Given the description of an element on the screen output the (x, y) to click on. 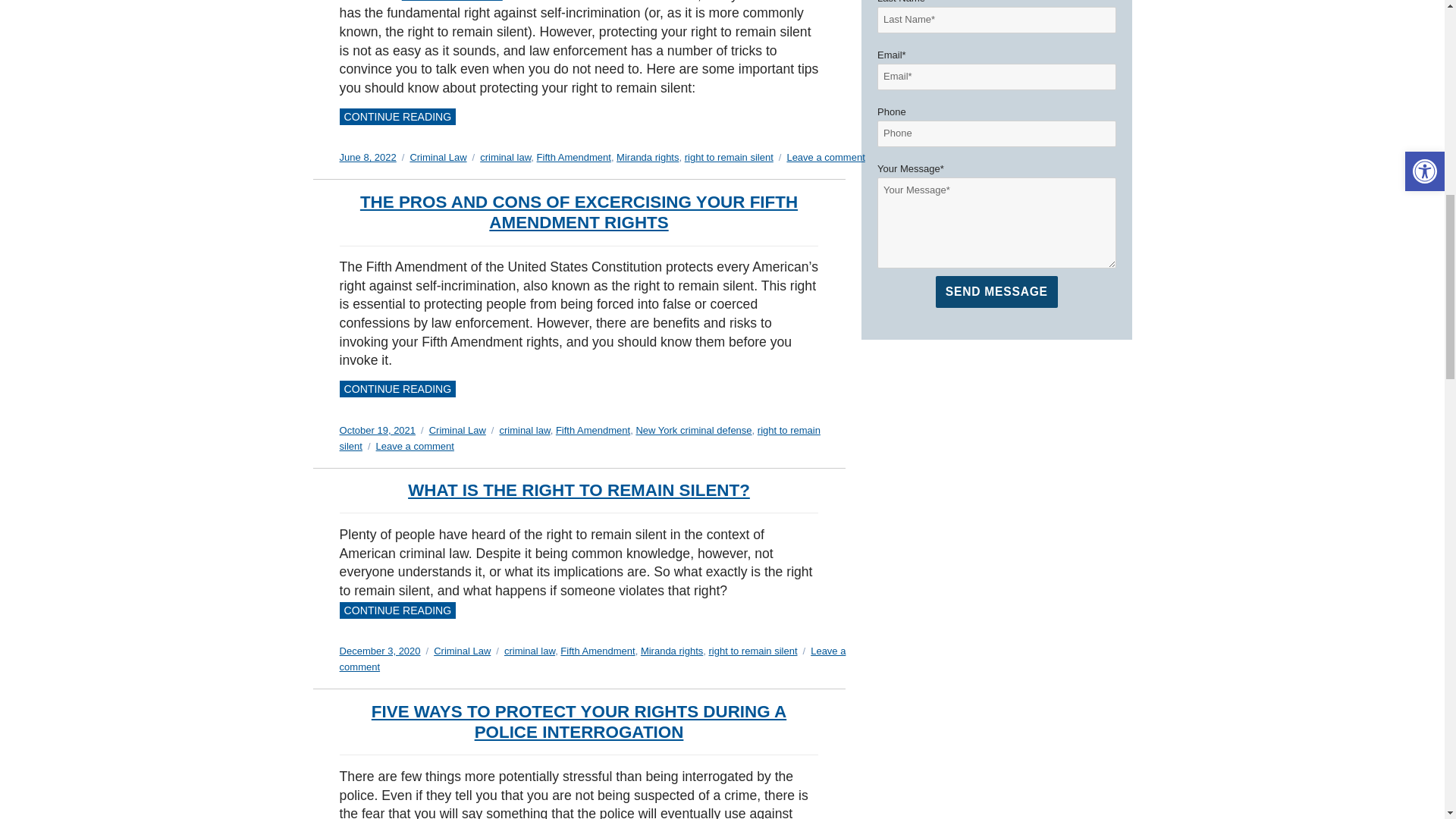
Send Message (997, 291)
